Given the description of an element on the screen output the (x, y) to click on. 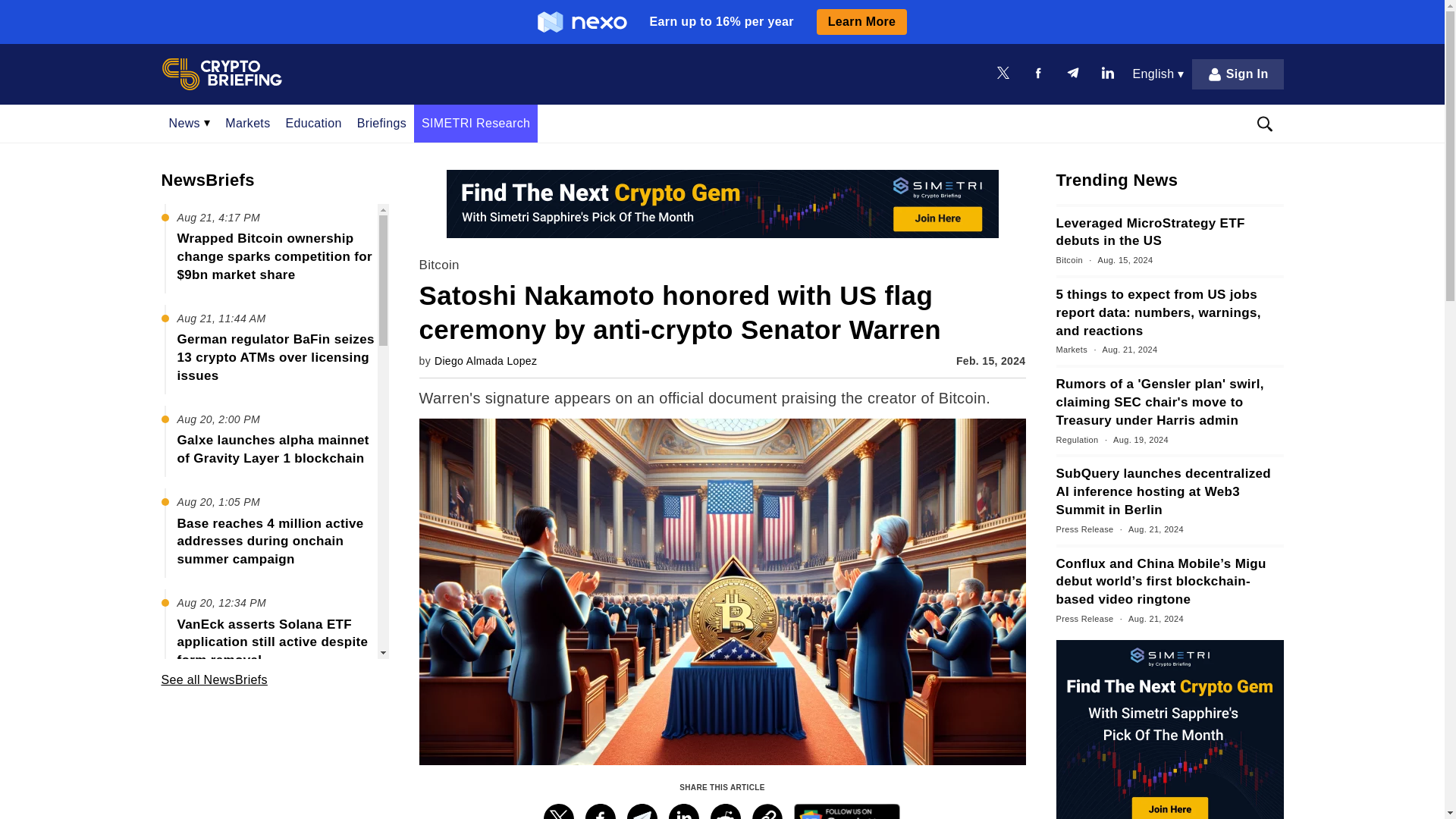
Sign In (1238, 73)
Sign In (1238, 73)
News (188, 123)
Learn More (861, 22)
